Given the description of an element on the screen output the (x, y) to click on. 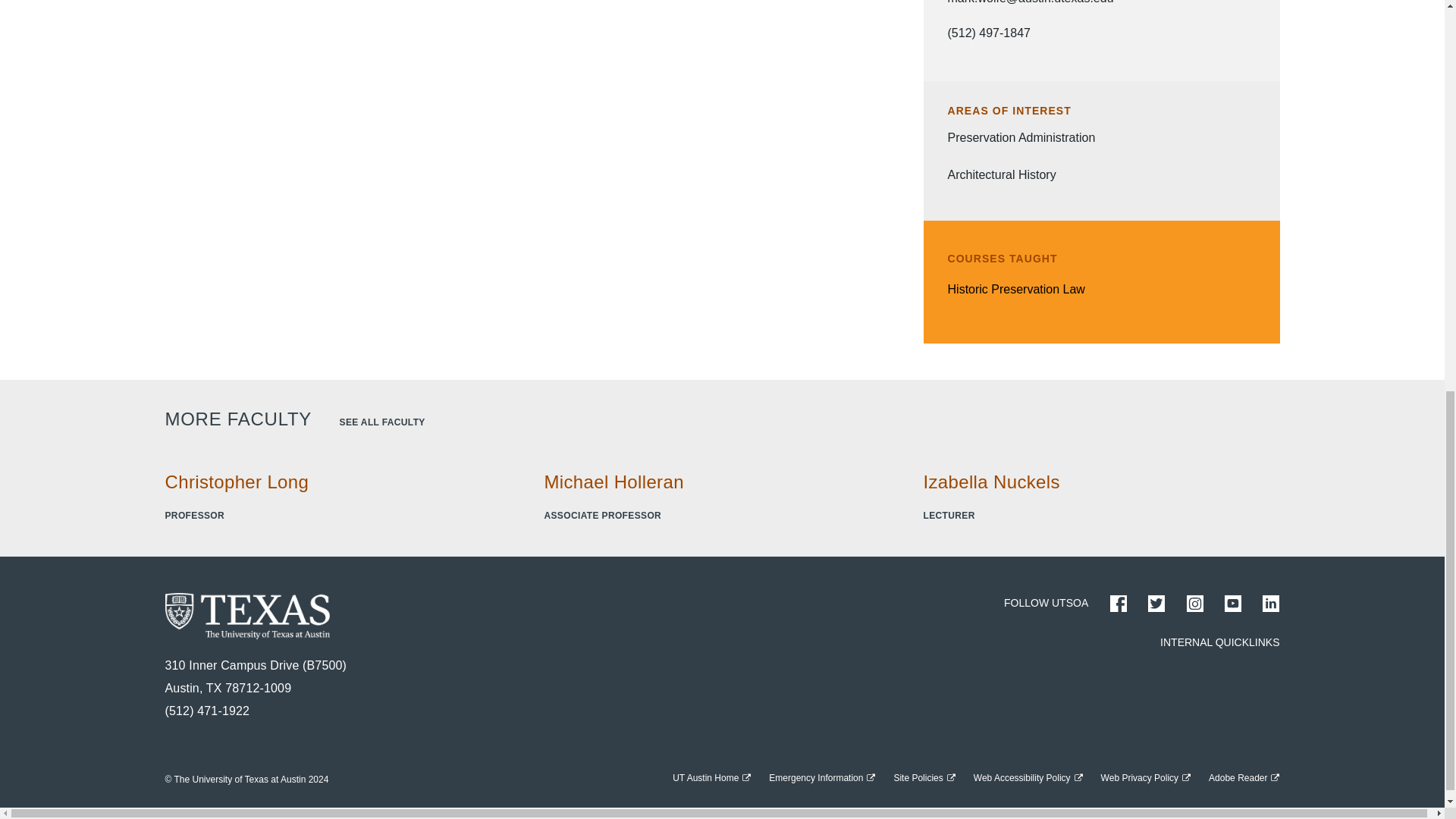
InstagramSee us on Instagram (1195, 603)
TwitterFind us on Twitter (1156, 603)
FacebookFind us on Facebook (1117, 603)
YoutubeSee us on Youtube (1232, 603)
LinkedinFind us on Linkedin (1270, 603)
